Given the description of an element on the screen output the (x, y) to click on. 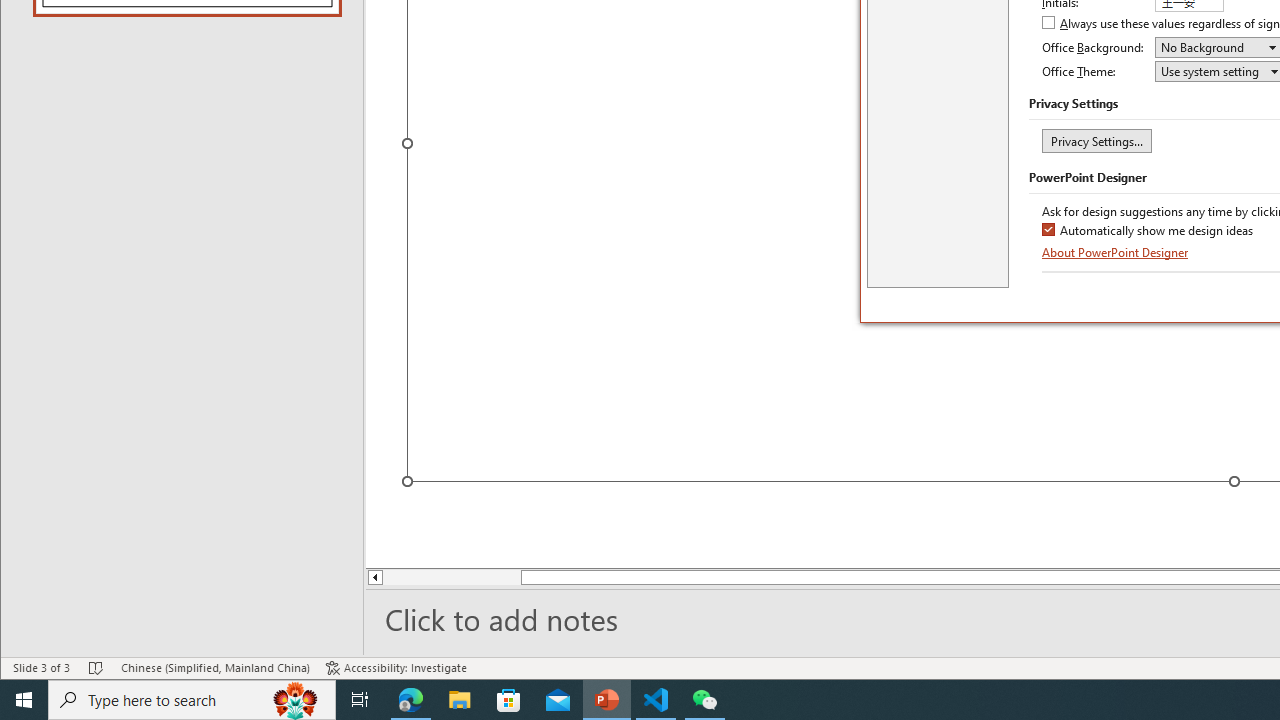
WeChat - 1 running window (704, 699)
Automatically show me design ideas (1148, 231)
About PowerPoint Designer (1116, 252)
